Given the description of an element on the screen output the (x, y) to click on. 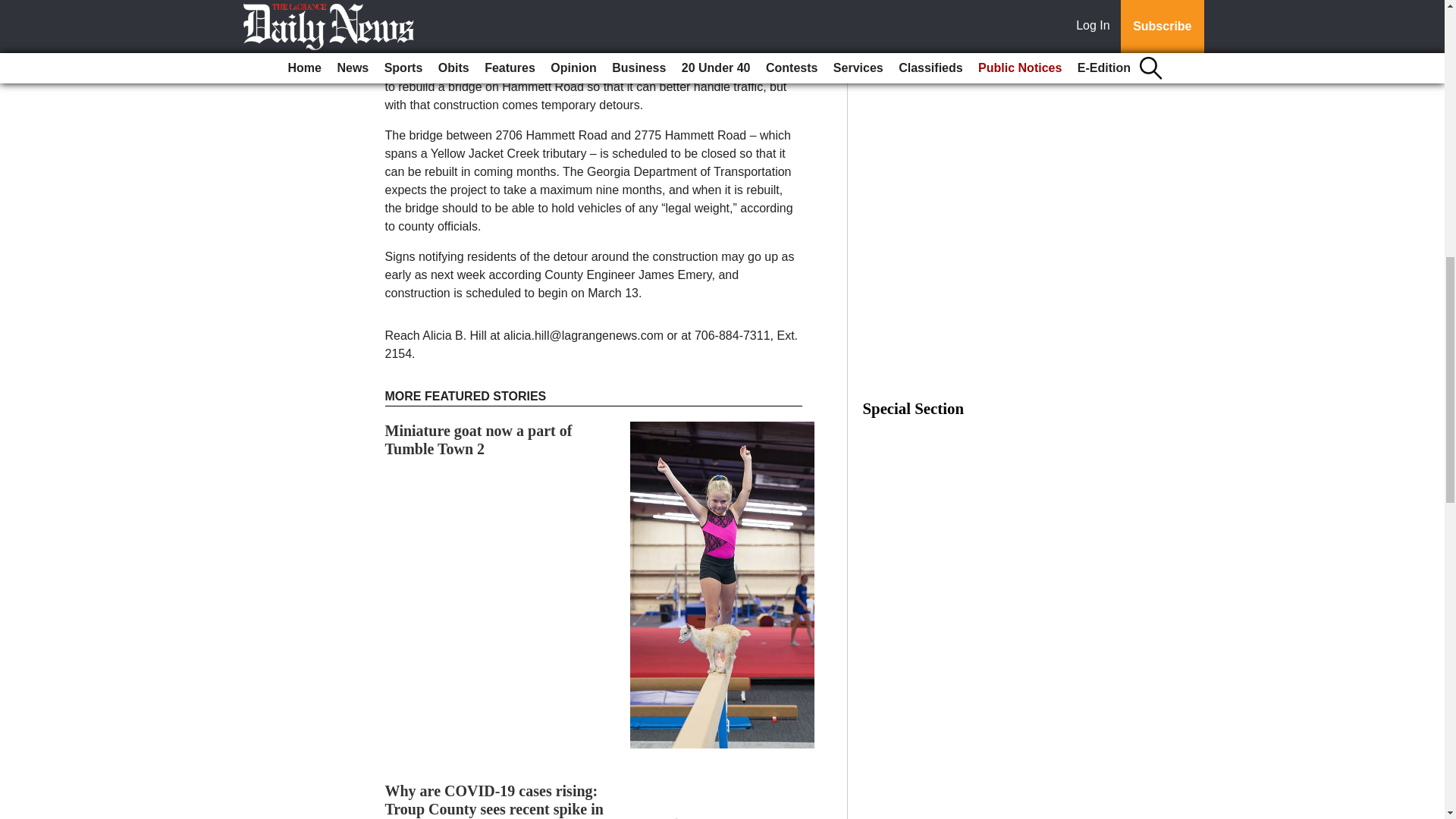
Miniature goat now a part of  Tumble Town 2 (478, 439)
Miniature goat now a part of Tumble Town 2 (478, 439)
